Given the description of an element on the screen output the (x, y) to click on. 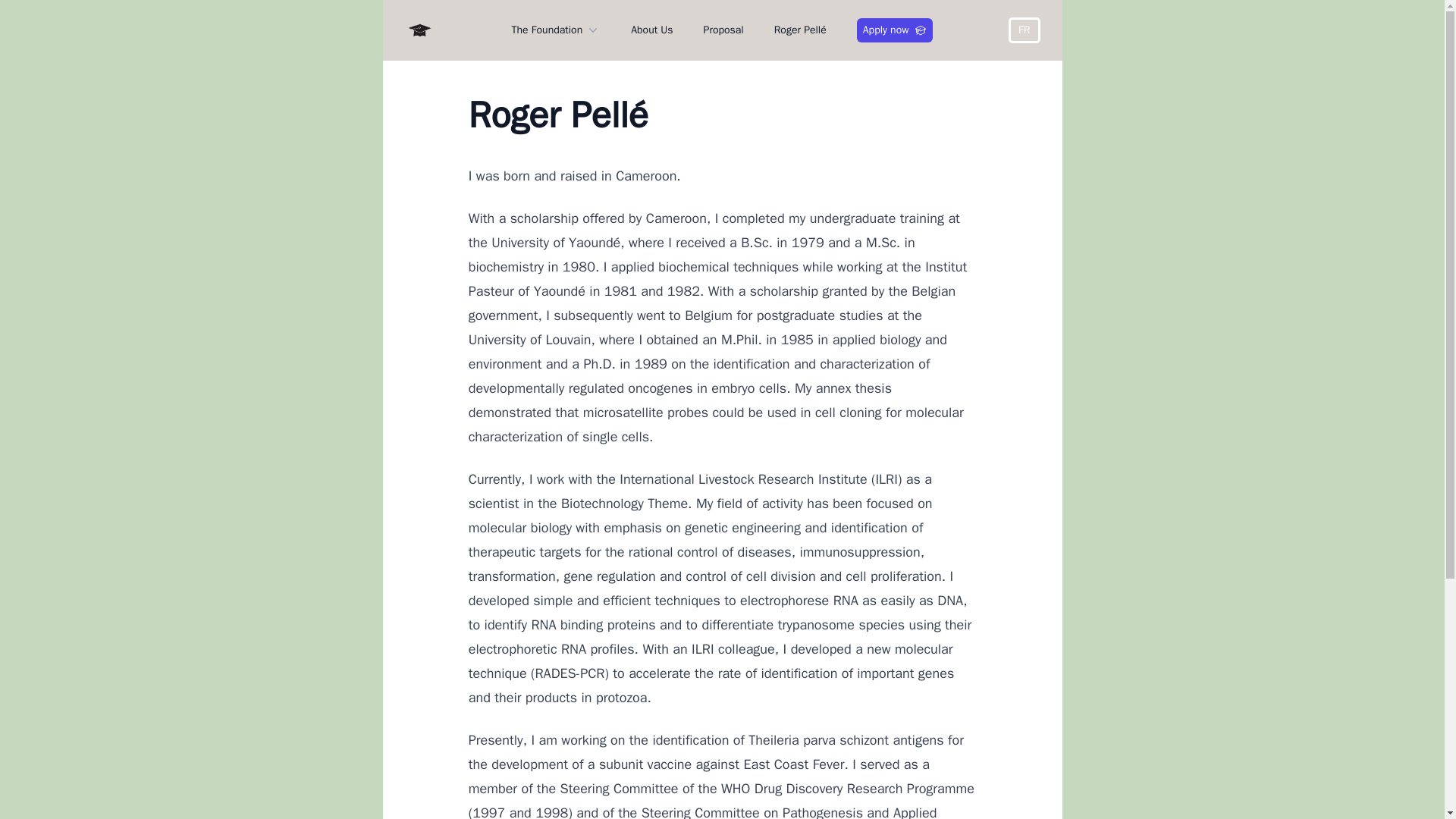
En Francais (1023, 29)
About Us (651, 30)
Apply now (895, 30)
The Foundation (556, 30)
Proposal (723, 30)
FR (1023, 29)
